Given the description of an element on the screen output the (x, y) to click on. 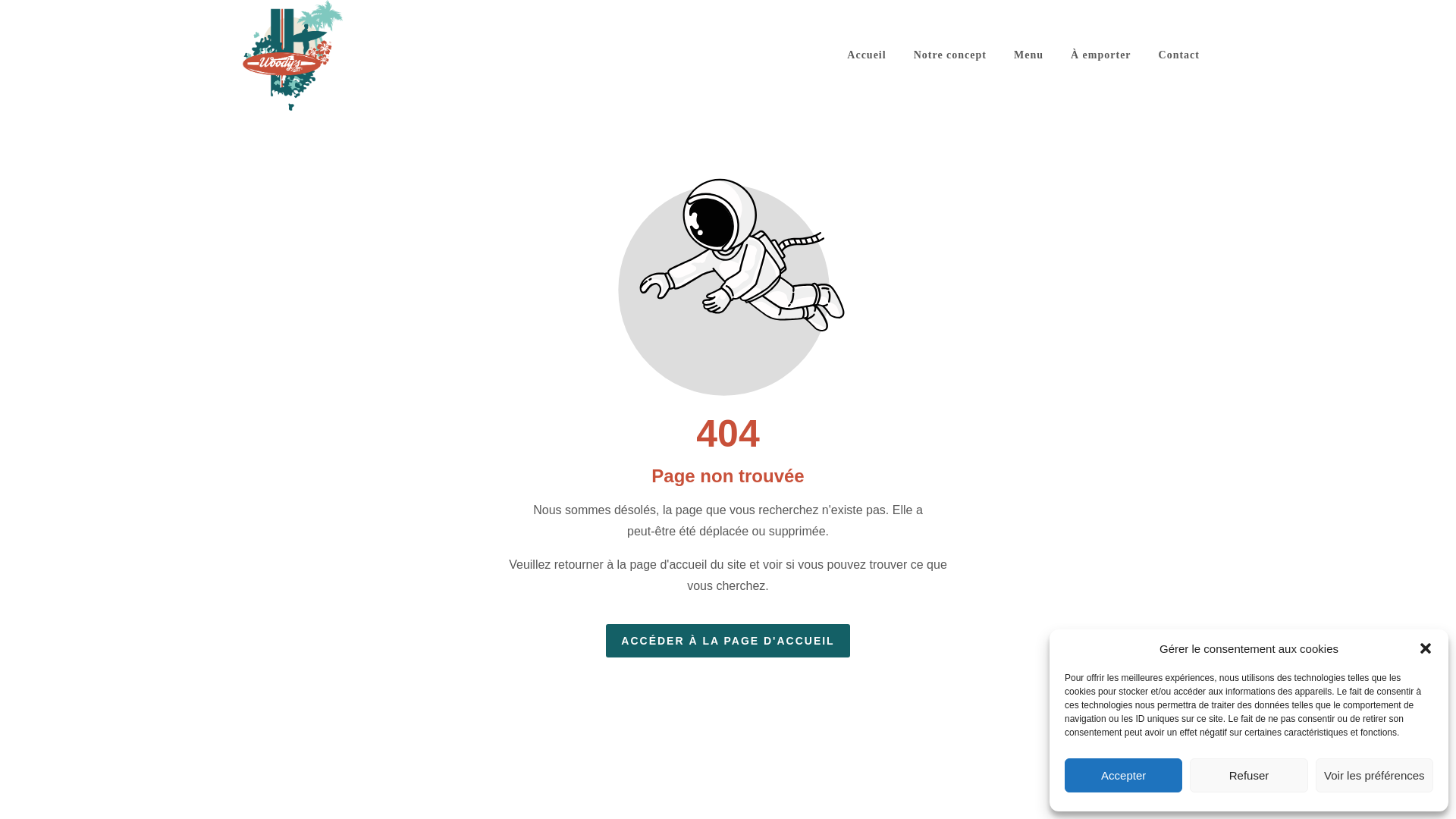
Notre concept (949, 54)
Contact (1179, 54)
Menu (1028, 54)
Accueil (866, 54)
Accepter (1123, 775)
Refuser (1248, 775)
Bouton de la page d'accueil (727, 640)
